Given the description of an element on the screen output the (x, y) to click on. 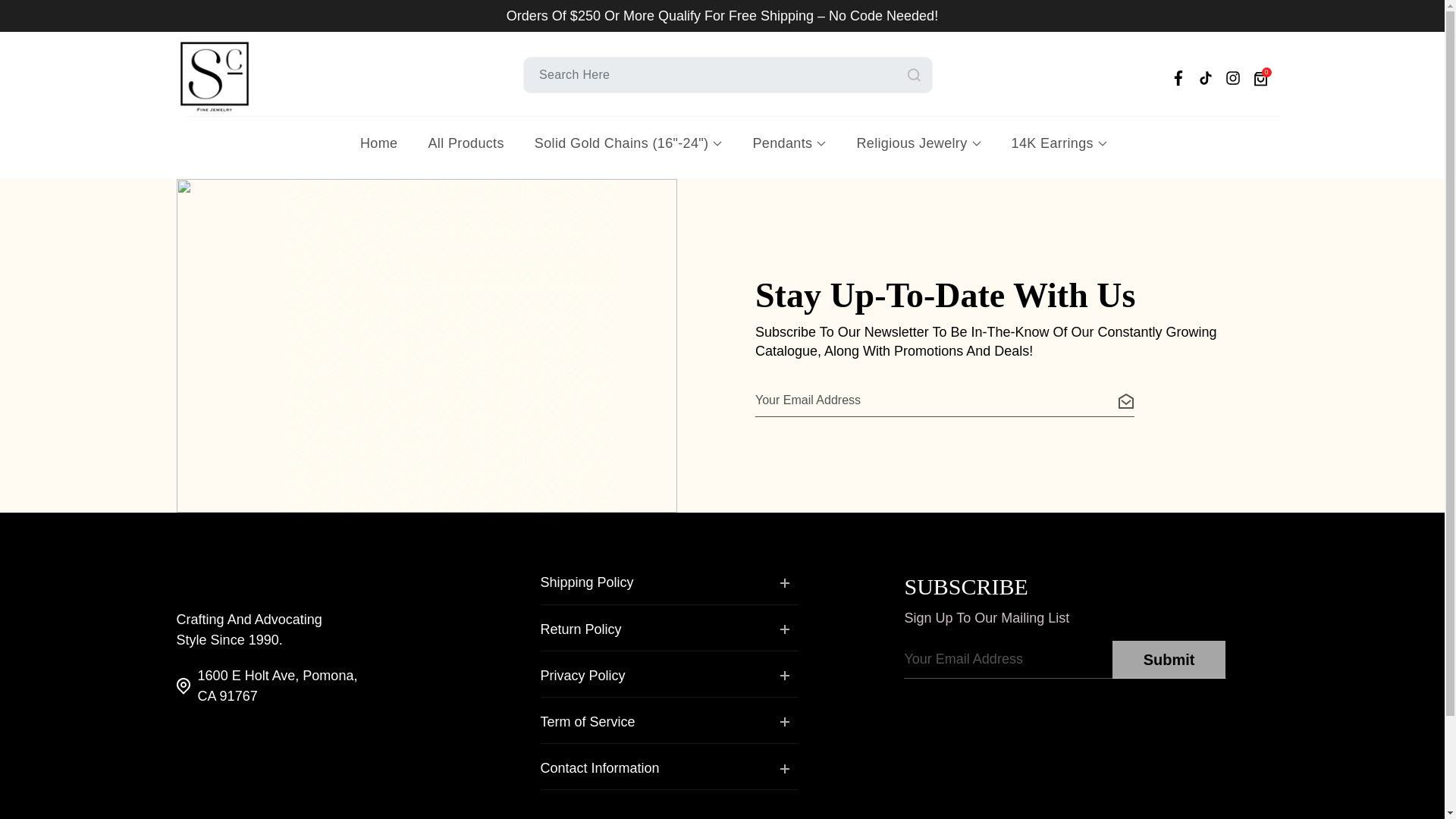
All Products (465, 140)
14K Earrings (1058, 140)
Instagram (1232, 77)
TikTok (1204, 77)
Religious Jewelry (917, 140)
0 (1260, 77)
All Products (465, 140)
14K Earrings (1058, 140)
Pendants (788, 140)
Home (378, 140)
Home (378, 140)
Religious Jewelry (917, 140)
Facebook (1177, 77)
Pendants (788, 140)
